Given the description of an element on the screen output the (x, y) to click on. 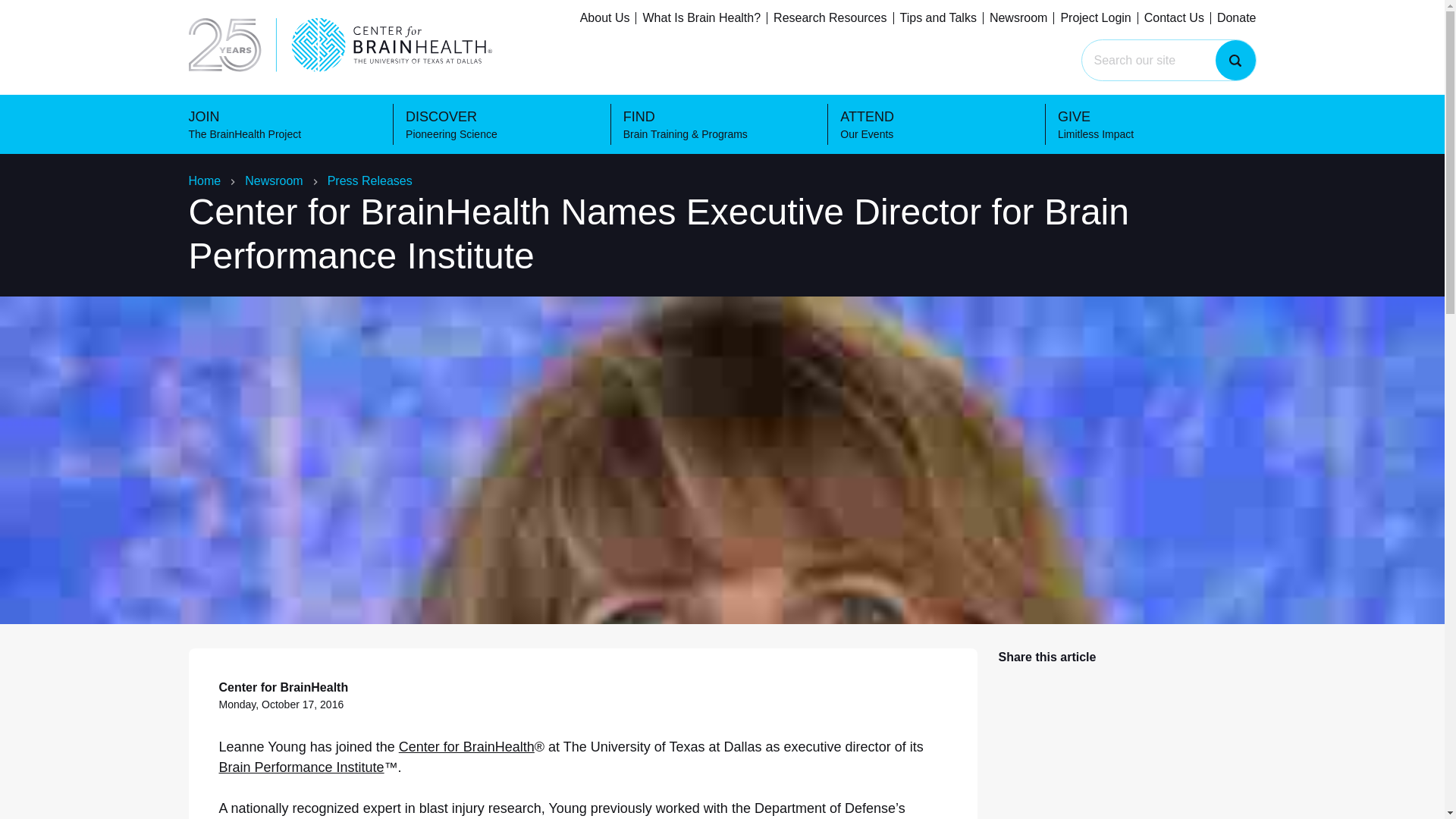
Go to home page (206, 19)
What Is Brain Health? (701, 17)
Newsroom (273, 180)
Limitless Impact (1169, 19)
Press Releases (369, 180)
Research Resources (829, 17)
Tips and Talks (937, 17)
Home (204, 180)
Contact Us (1174, 17)
Newsroom (1018, 17)
